Given the description of an element on the screen output the (x, y) to click on. 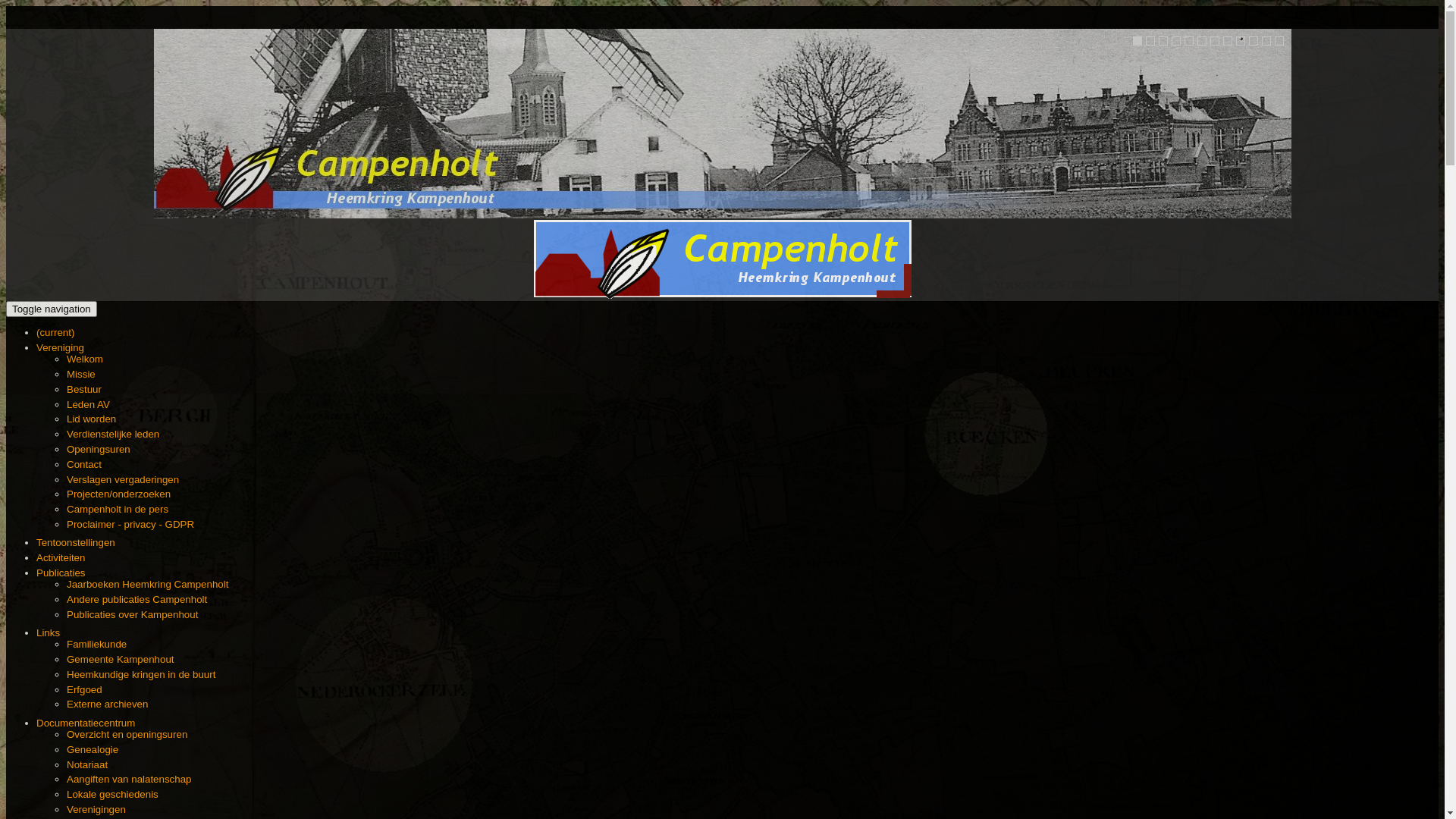
Notariaat Element type: text (86, 764)
Overzicht en openingsuren Element type: text (126, 734)
Jaarboeken Heemkring Campenholt Element type: text (147, 583)
Welkom Element type: text (84, 358)
Familiekunde Element type: text (96, 643)
Vereniging Element type: text (60, 347)
Verdienstelijke leden Element type: text (112, 433)
Heemkundige kringen in de buurt Element type: text (140, 674)
10 Element type: text (1252, 40)
Contact Element type: text (83, 464)
5 Element type: text (1188, 40)
Campenholt in de pers Element type: text (117, 508)
8 Element type: text (1226, 40)
Publicaties Element type: text (60, 572)
Bestuur Element type: text (83, 389)
6 Element type: text (1200, 40)
4 Element type: text (1174, 40)
Verenigingen Element type: text (95, 809)
Links Element type: text (47, 632)
Proclaimer - privacy - GDPR Element type: text (130, 524)
Leden AV Element type: text (87, 404)
9 Element type: text (1240, 40)
(current) Element type: text (55, 332)
Missie Element type: text (80, 373)
Publicaties over Kampenhout Element type: text (131, 614)
Externe archieven Element type: text (106, 703)
Toggle navigation Element type: text (51, 308)
Aangiften van nalatenschap Element type: text (128, 778)
Lid worden Element type: text (91, 418)
11 Element type: text (1265, 40)
Genealogie Element type: text (92, 749)
7 Element type: text (1214, 40)
Andere publicaties Campenholt Element type: text (136, 599)
Lokale geschiedenis Element type: text (112, 794)
2 Element type: text (1149, 40)
Gemeente Kampenhout Element type: text (120, 659)
Tentoonstellingen Element type: text (75, 542)
Projecten/onderzoeken Element type: text (118, 493)
Documentatiecentrum Element type: text (85, 722)
Openingsuren Element type: text (98, 449)
12 Element type: text (1278, 40)
Verslagen vergaderingen Element type: text (122, 478)
3 Element type: text (1162, 40)
1 Element type: text (1137, 40)
Erfgoed Element type: text (84, 689)
Activiteiten Element type: text (60, 557)
